Given the description of an element on the screen output the (x, y) to click on. 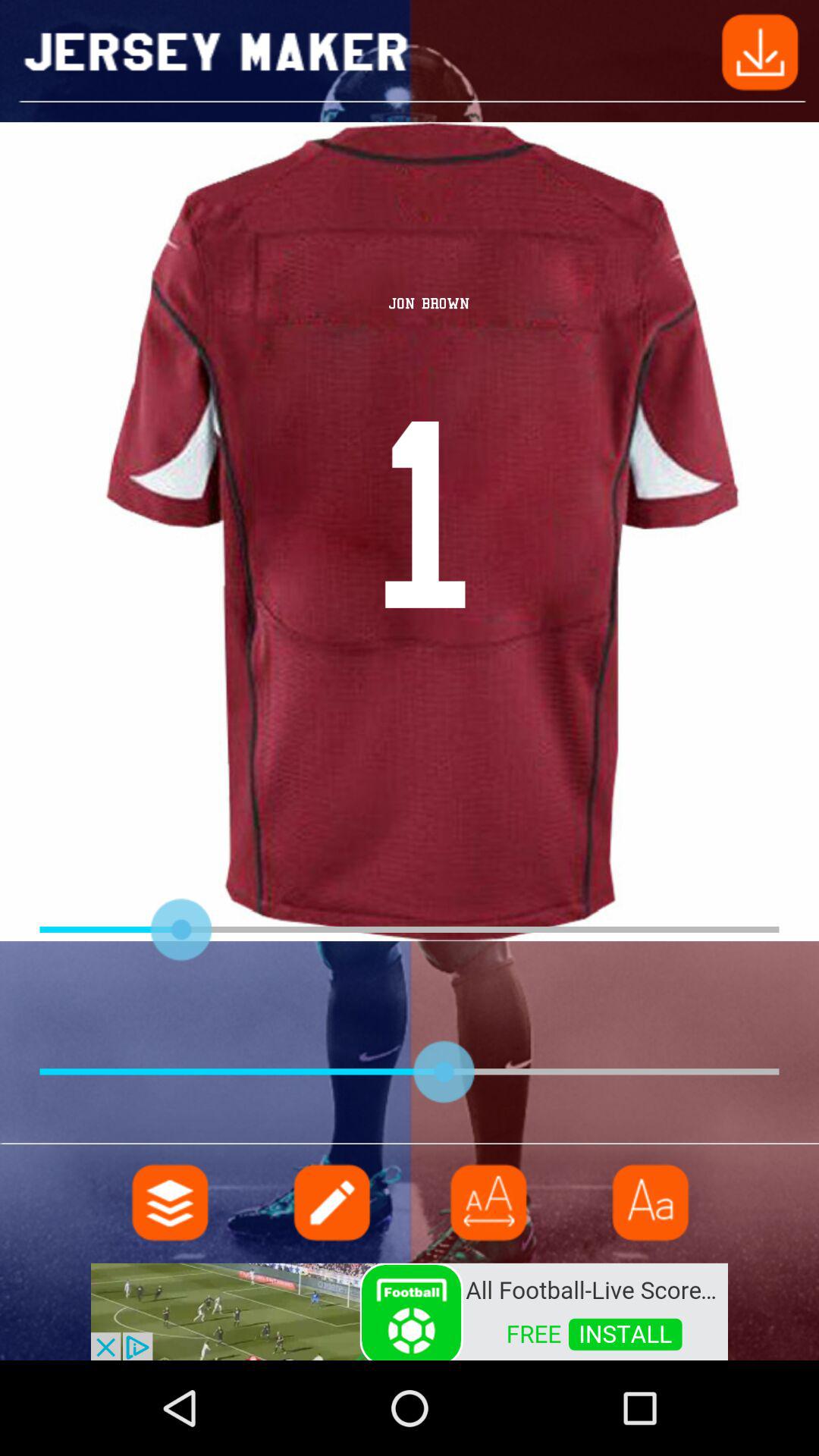
change font type (648, 1202)
